Given the description of an element on the screen output the (x, y) to click on. 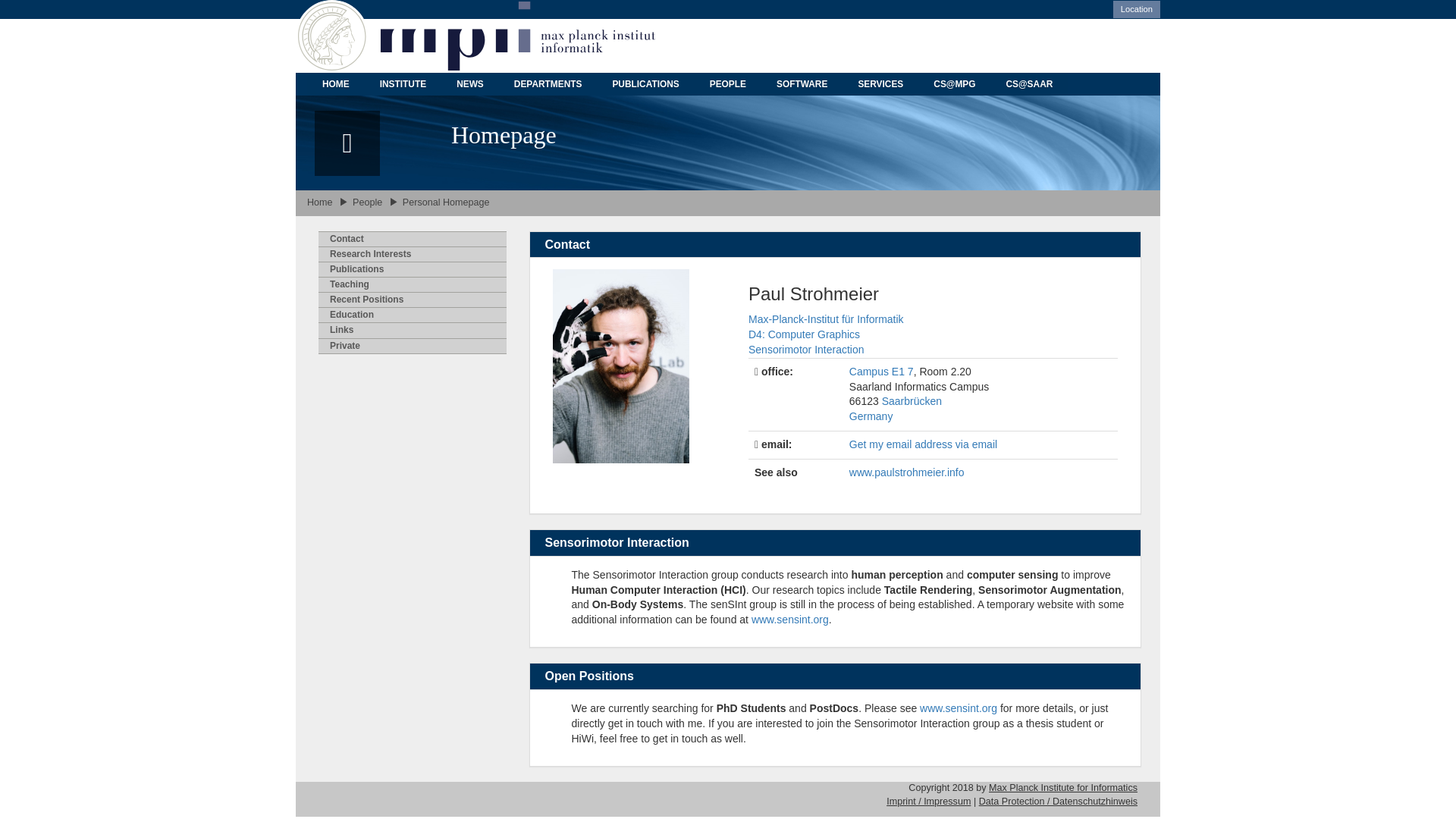
Education of Firstname Lastname (412, 314)
Research Interests (412, 253)
Teaching of Firstname Lastname (412, 283)
DEPARTMENTS (547, 83)
Location (1136, 9)
INSTITUTE (403, 83)
Publications of Firstname Lastname (412, 268)
Private Stuff of Firstname Lastname (412, 345)
Private Stuff of Firstname Lastname (412, 329)
NEWS (470, 83)
Contact (412, 238)
Positions of Firstname Lastname (412, 299)
HOME (336, 83)
PUBLICATIONS (645, 83)
